Given the description of an element on the screen output the (x, y) to click on. 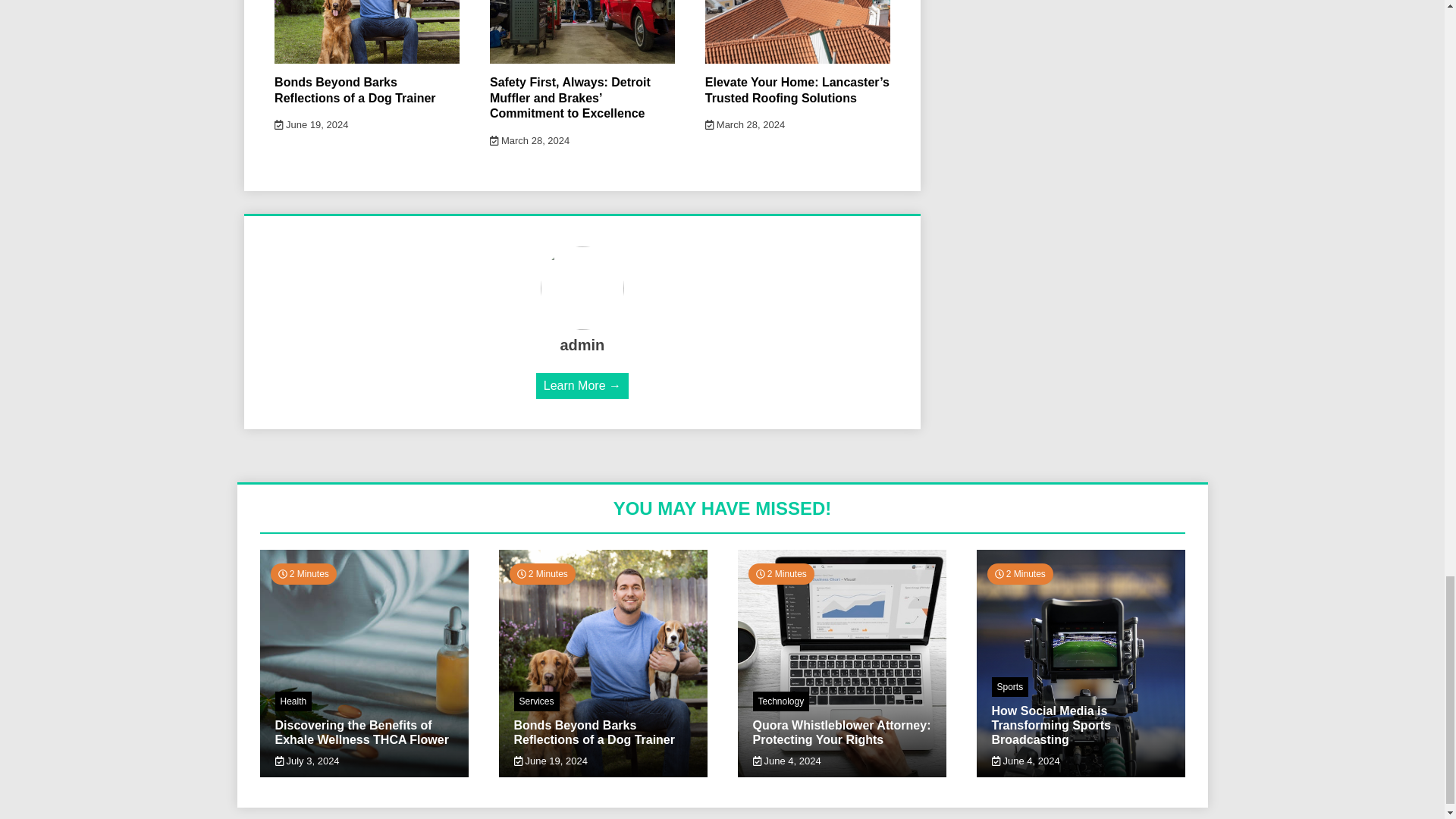
March 28, 2024 (744, 124)
Estimated Reading Time of Article (302, 573)
Estimated Reading Time of Article (1019, 573)
Estimated Reading Time of Article (780, 573)
June 19, 2024 (311, 124)
Estimated Reading Time of Article (542, 573)
March 28, 2024 (529, 140)
Bonds Beyond Barks Reflections of a Dog Trainer (355, 90)
